Given the description of an element on the screen output the (x, y) to click on. 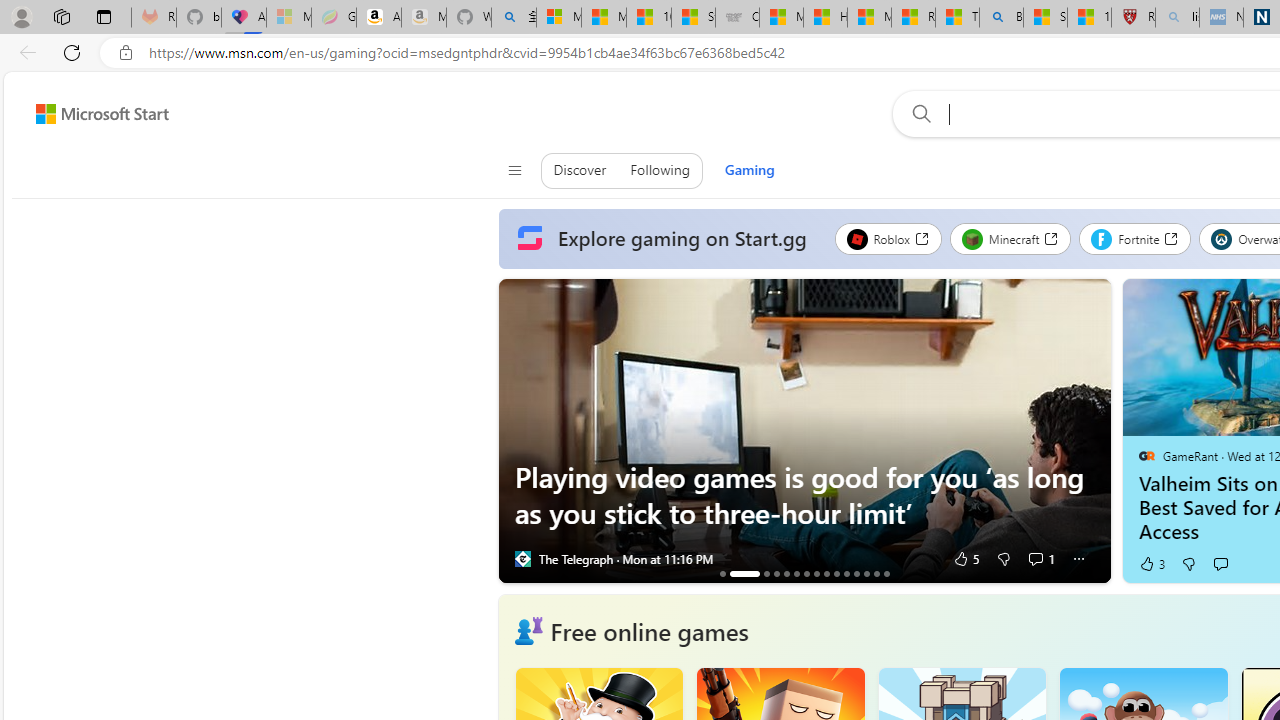
Explore gaming on Start.gg (665, 239)
Workspaces (61, 16)
Microsoft-Report a Concern to Bing - Sleeping (289, 17)
How to Play DOS Games on Your iPad (866, 573)
5 Like (966, 558)
Discover (579, 169)
The Telegraph (522, 558)
The 7 Best Free Cooking Games On Poki (816, 573)
list of asthma inhalers uk - Search - Sleeping (1177, 17)
Fortnite (1135, 238)
Dislike (1188, 564)
